Given the description of an element on the screen output the (x, y) to click on. 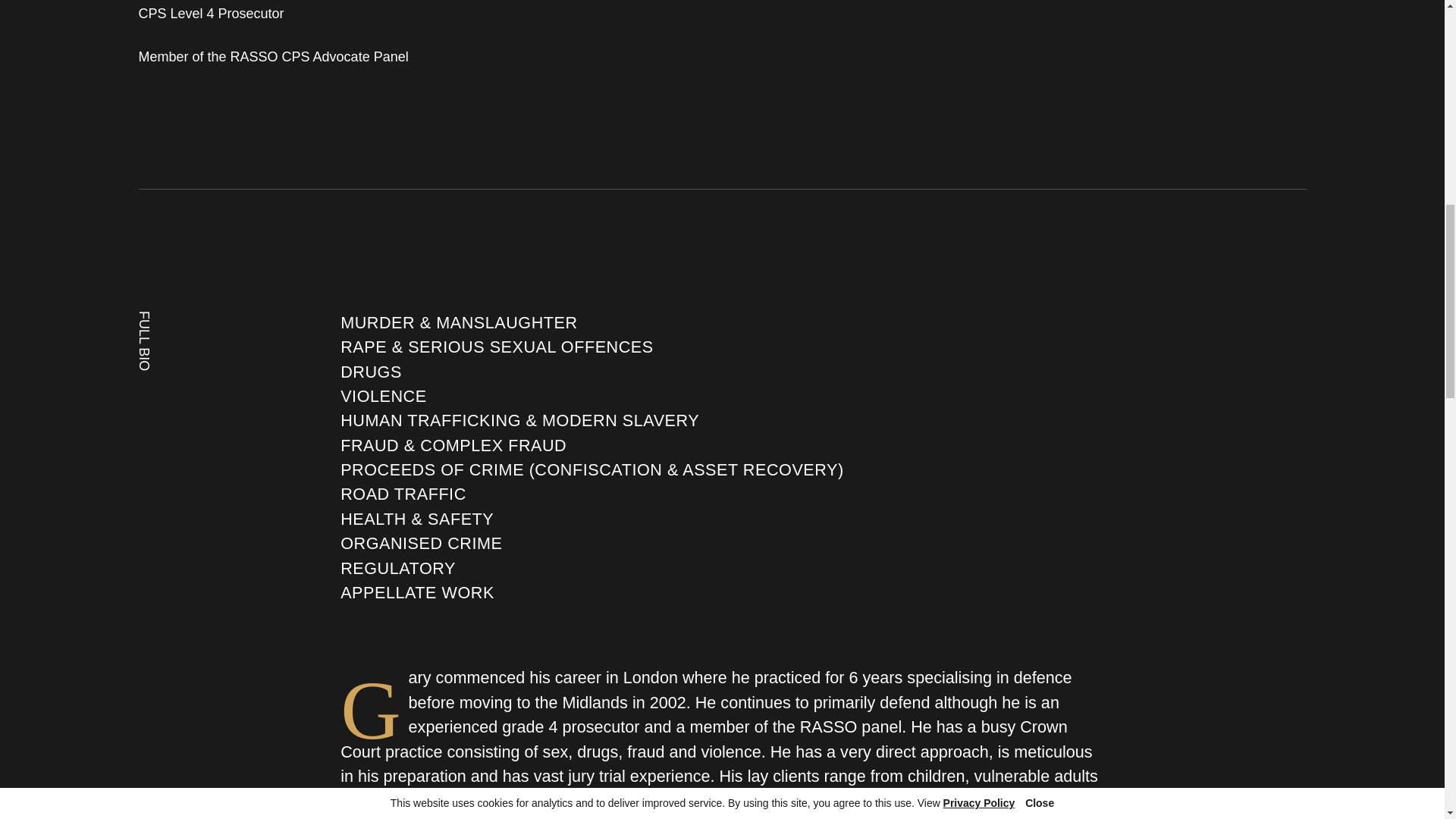
APPELLATE WORK (417, 592)
ORGANISED CRIME (421, 543)
VIOLENCE (383, 396)
ROAD TRAFFIC (402, 494)
DRUGS (370, 371)
REGULATORY (397, 568)
